Given the description of an element on the screen output the (x, y) to click on. 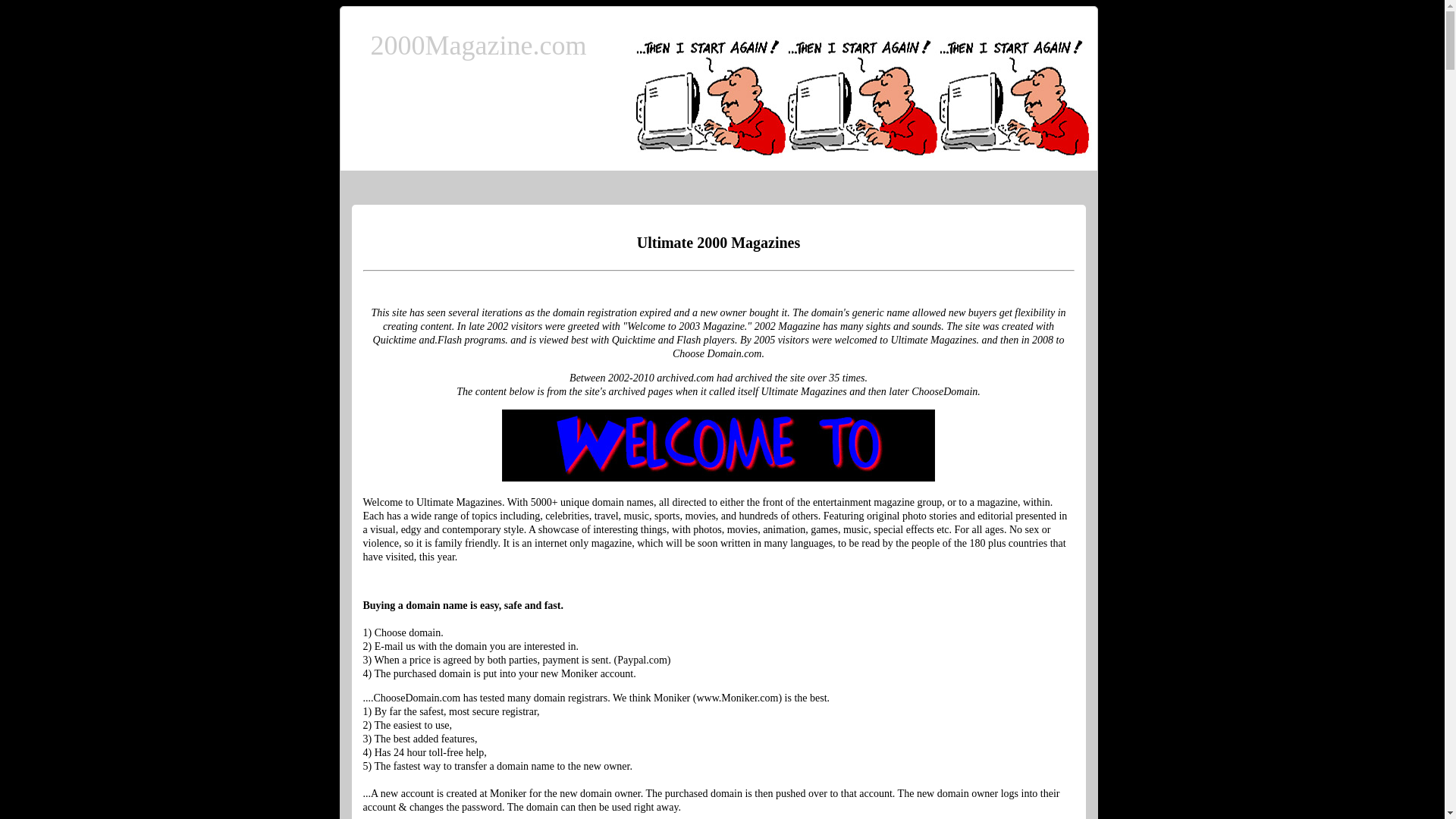
2000Magazine.com Element type: text (478, 45)
